Given the description of an element on the screen output the (x, y) to click on. 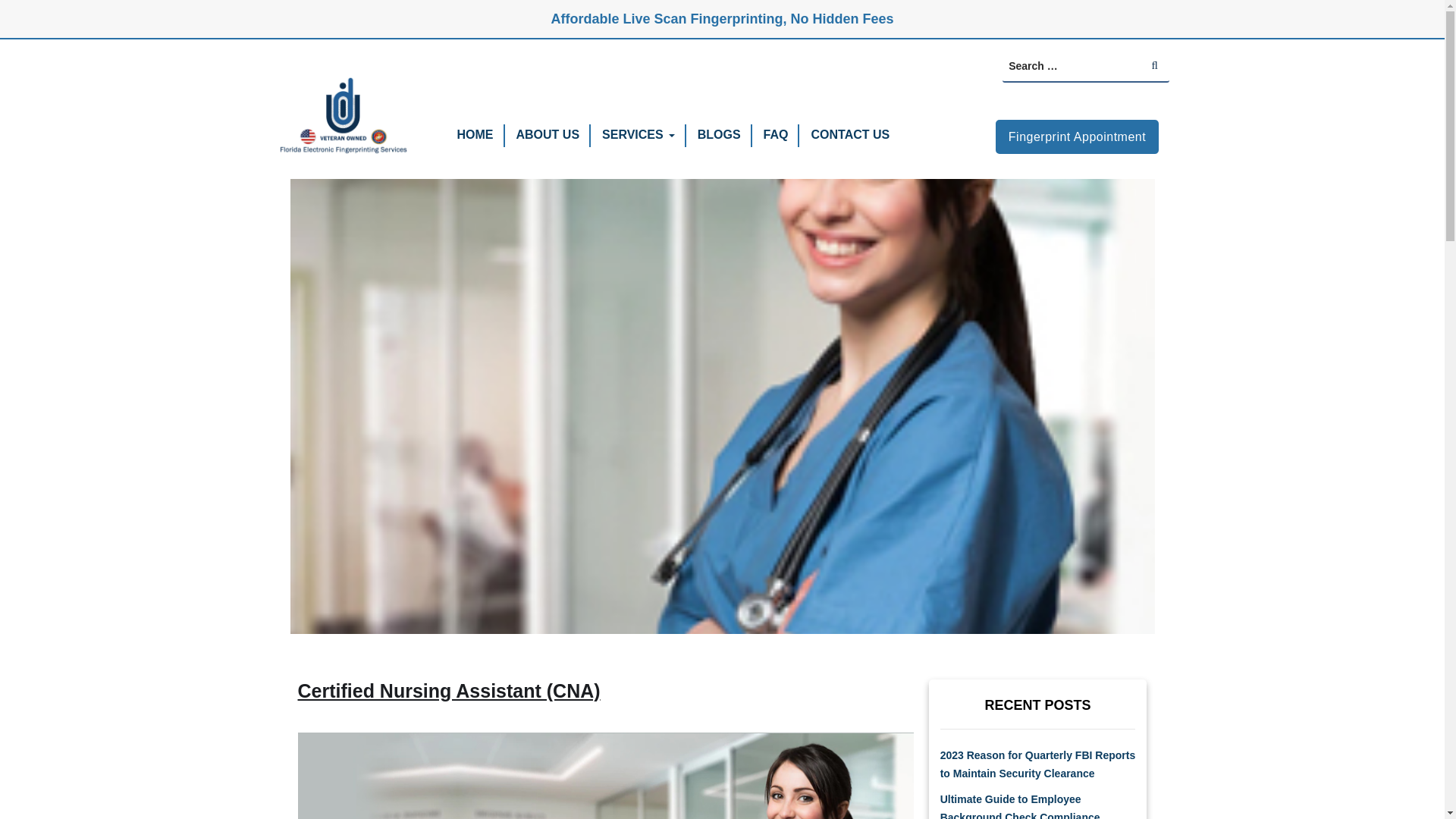
ABOUT US (547, 133)
HOME (475, 133)
SERVICES (632, 133)
